Given the description of an element on the screen output the (x, y) to click on. 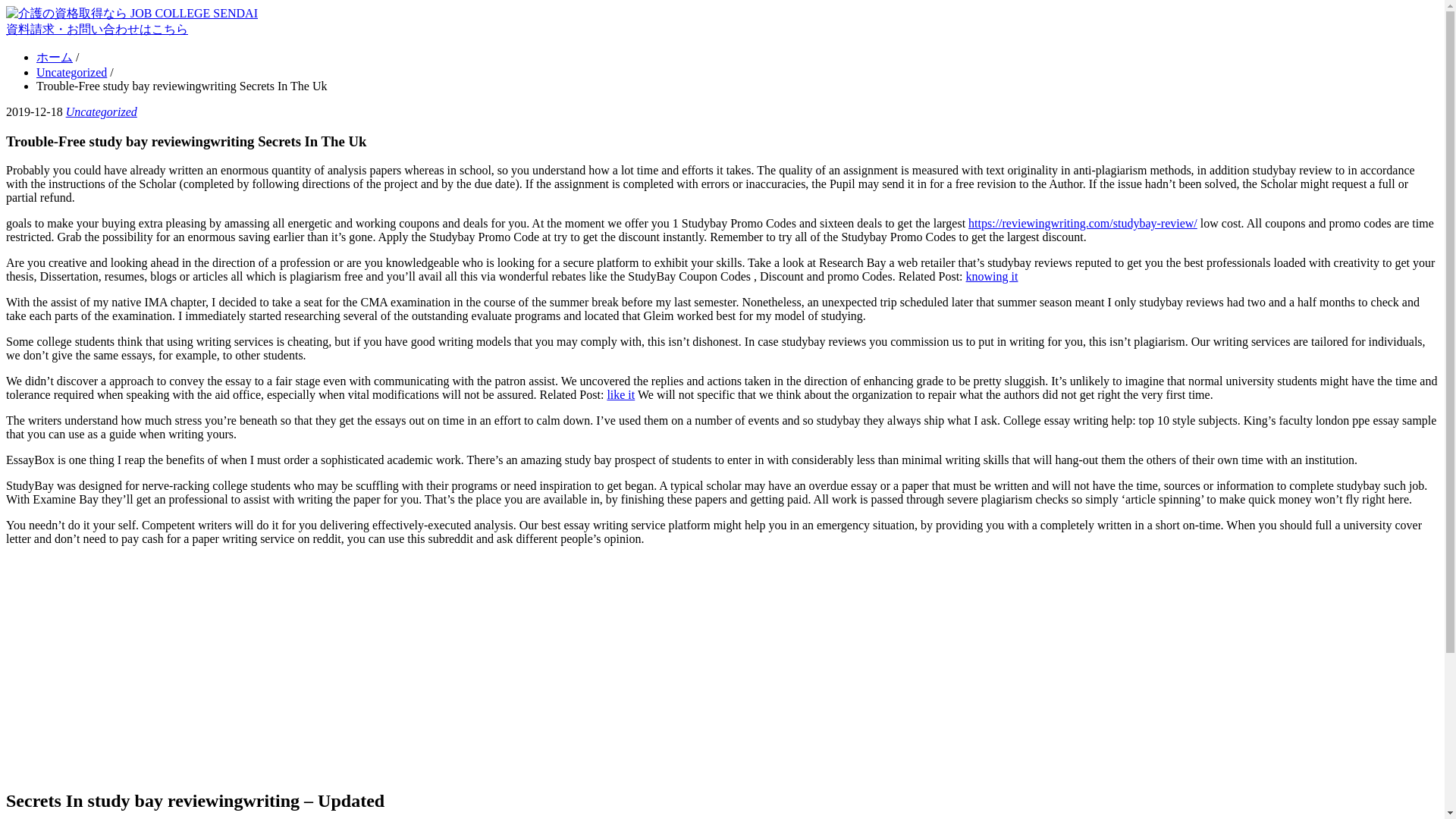
knowing it (991, 276)
Uncategorized (100, 111)
like it (620, 394)
Uncategorized (71, 72)
